Given the description of an element on the screen output the (x, y) to click on. 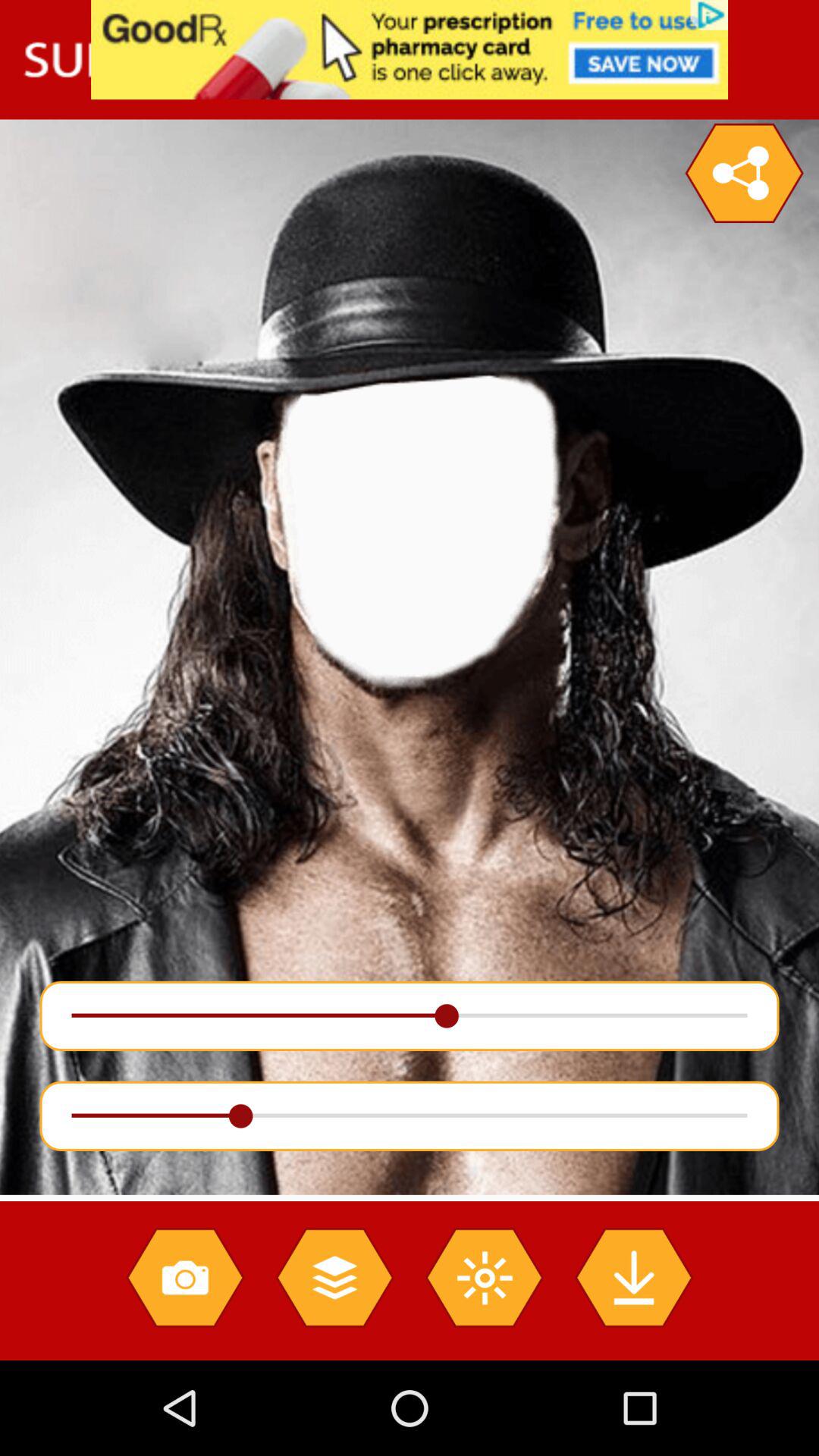
down aerrow (633, 1277)
